Given the description of an element on the screen output the (x, y) to click on. 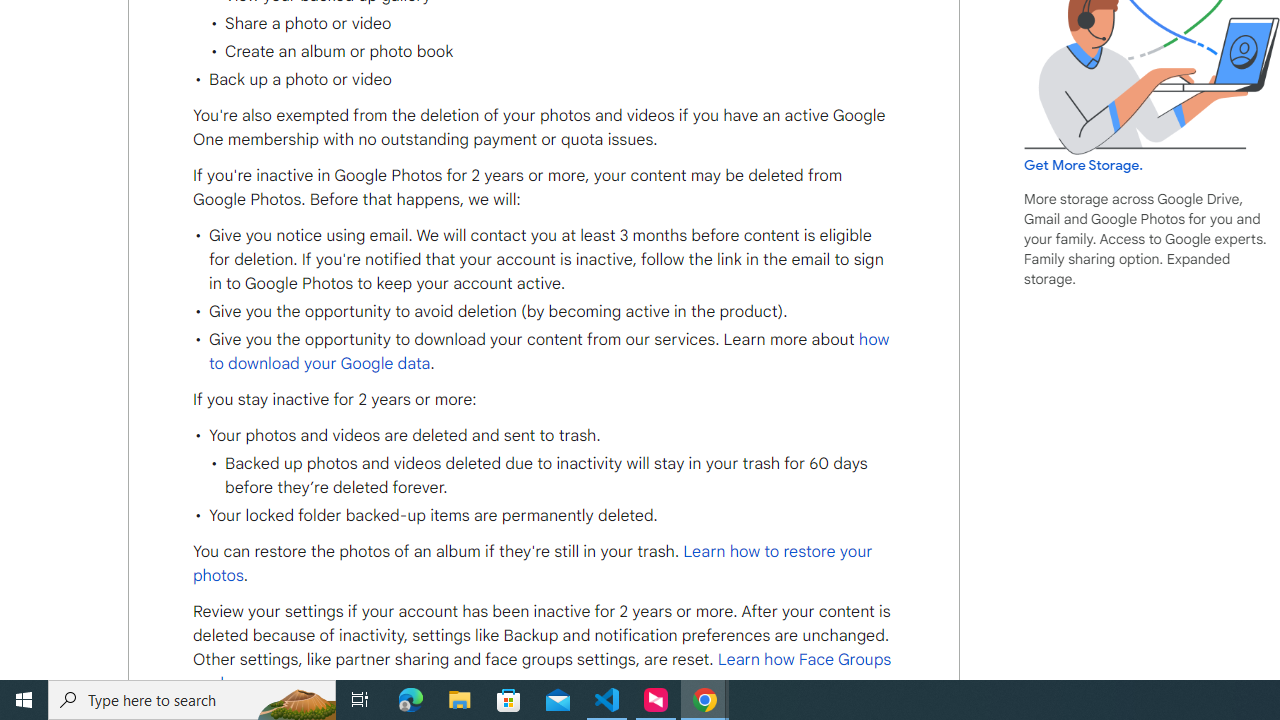
how to download your Google data (548, 351)
Learn how Face Groups works (542, 672)
Get More Storage. (1083, 165)
Learn how to restore your photos (532, 564)
